Given the description of an element on the screen output the (x, y) to click on. 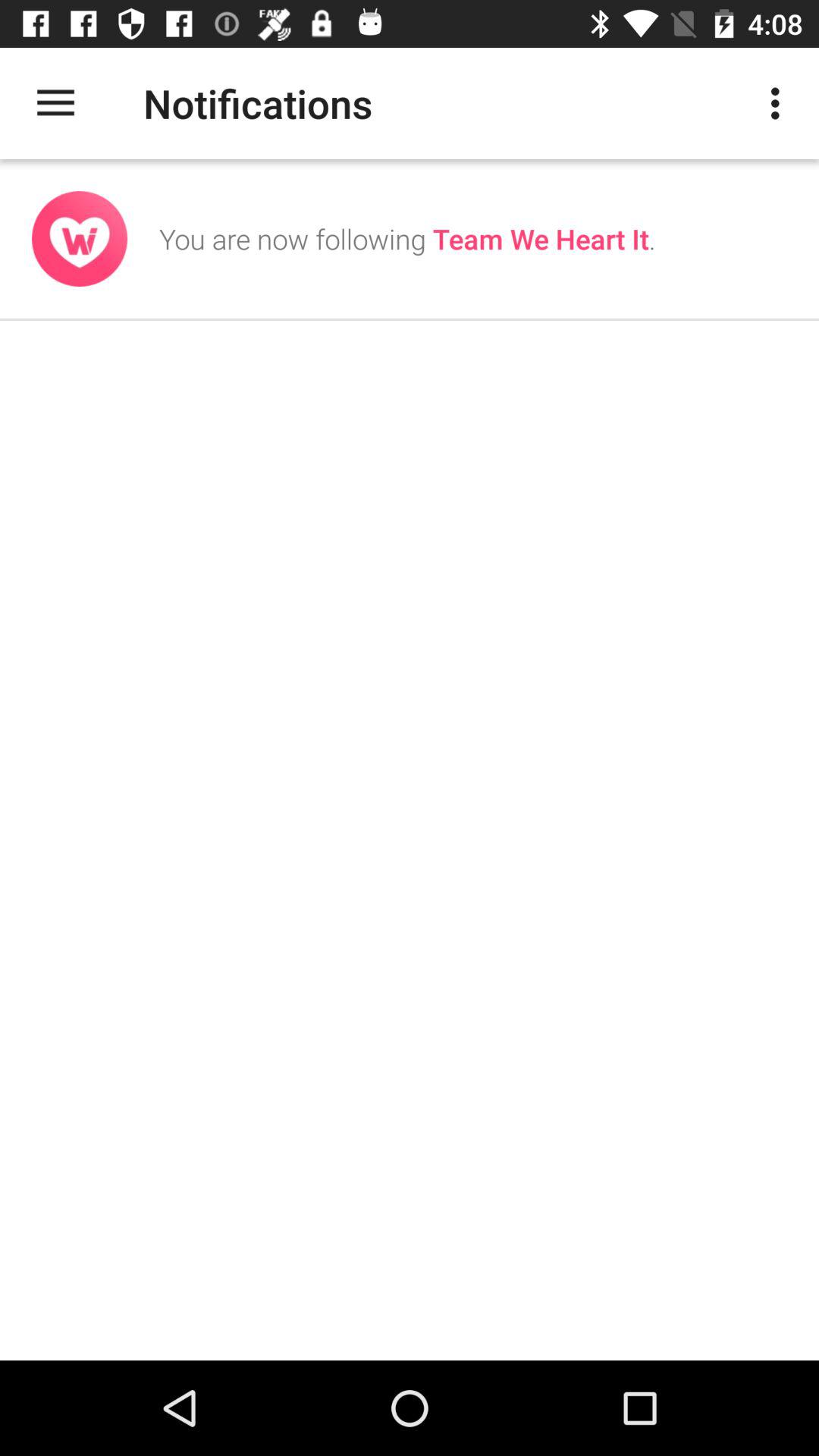
choose the icon next to the notifications icon (779, 103)
